Given the description of an element on the screen output the (x, y) to click on. 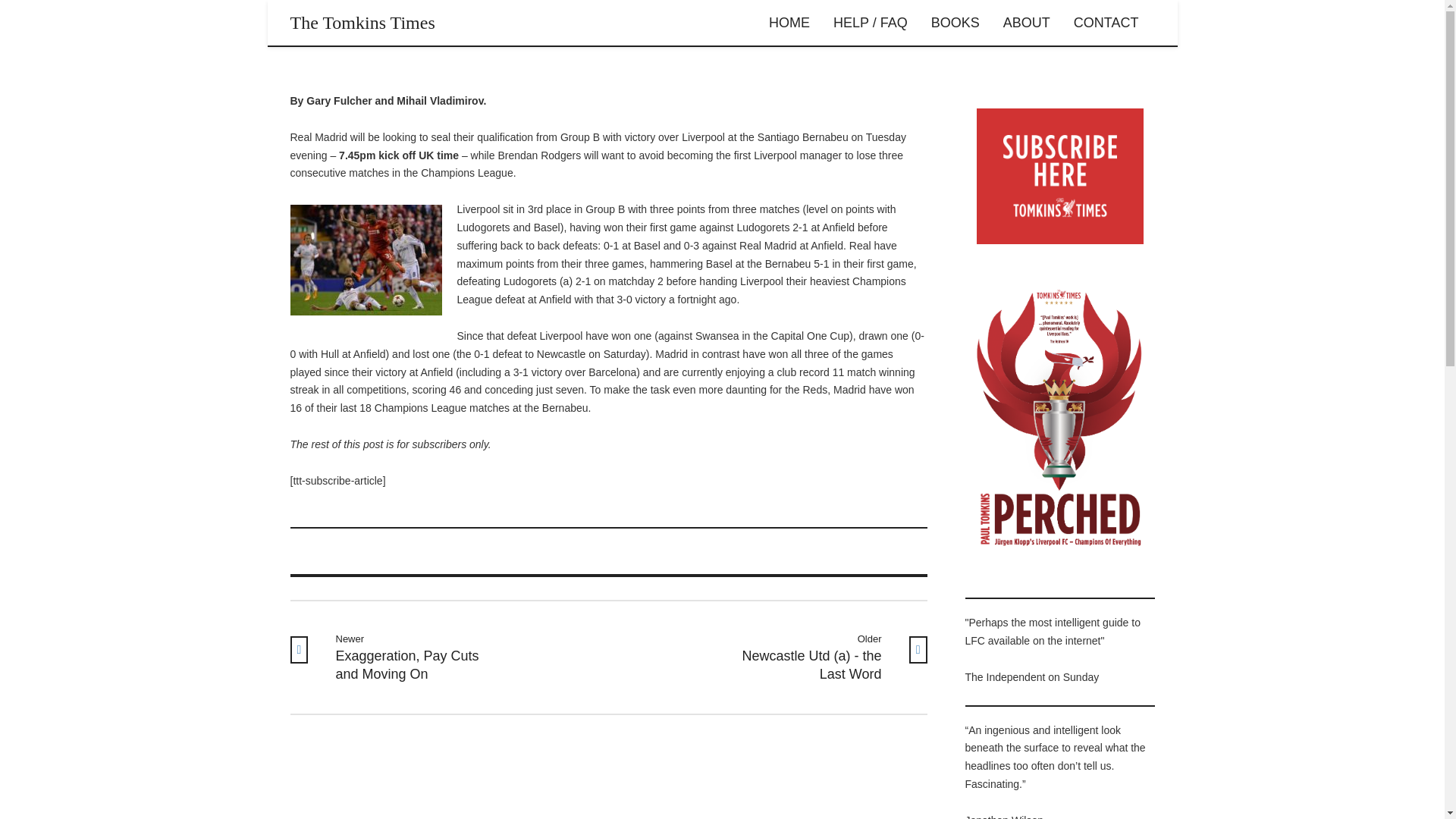
The Tomkins Times (395, 657)
HOME (361, 22)
BOOKS (789, 22)
ABOUT (955, 22)
CONTACT (1026, 22)
